Given the description of an element on the screen output the (x, y) to click on. 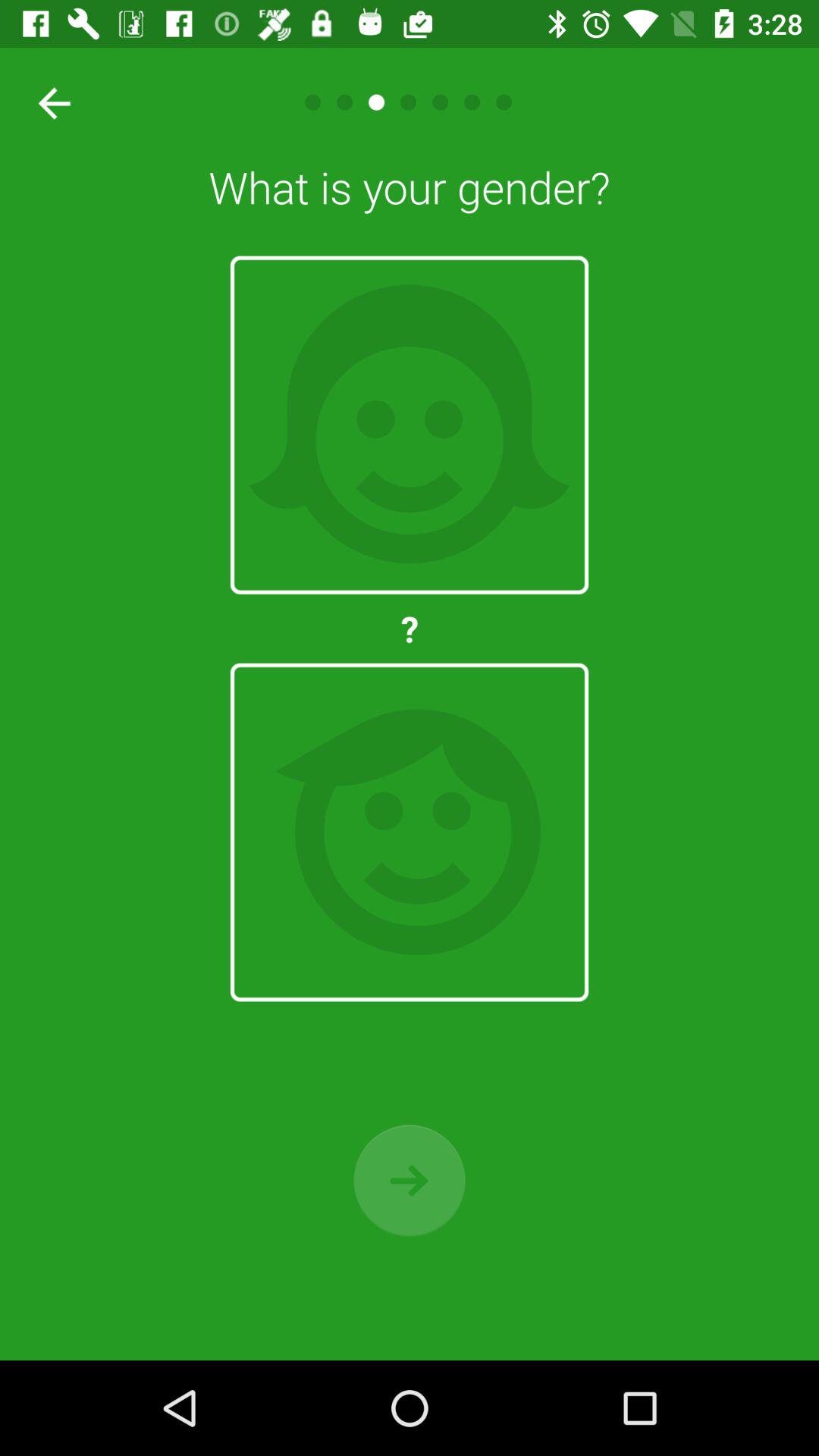
move (409, 1180)
